Given the description of an element on the screen output the (x, y) to click on. 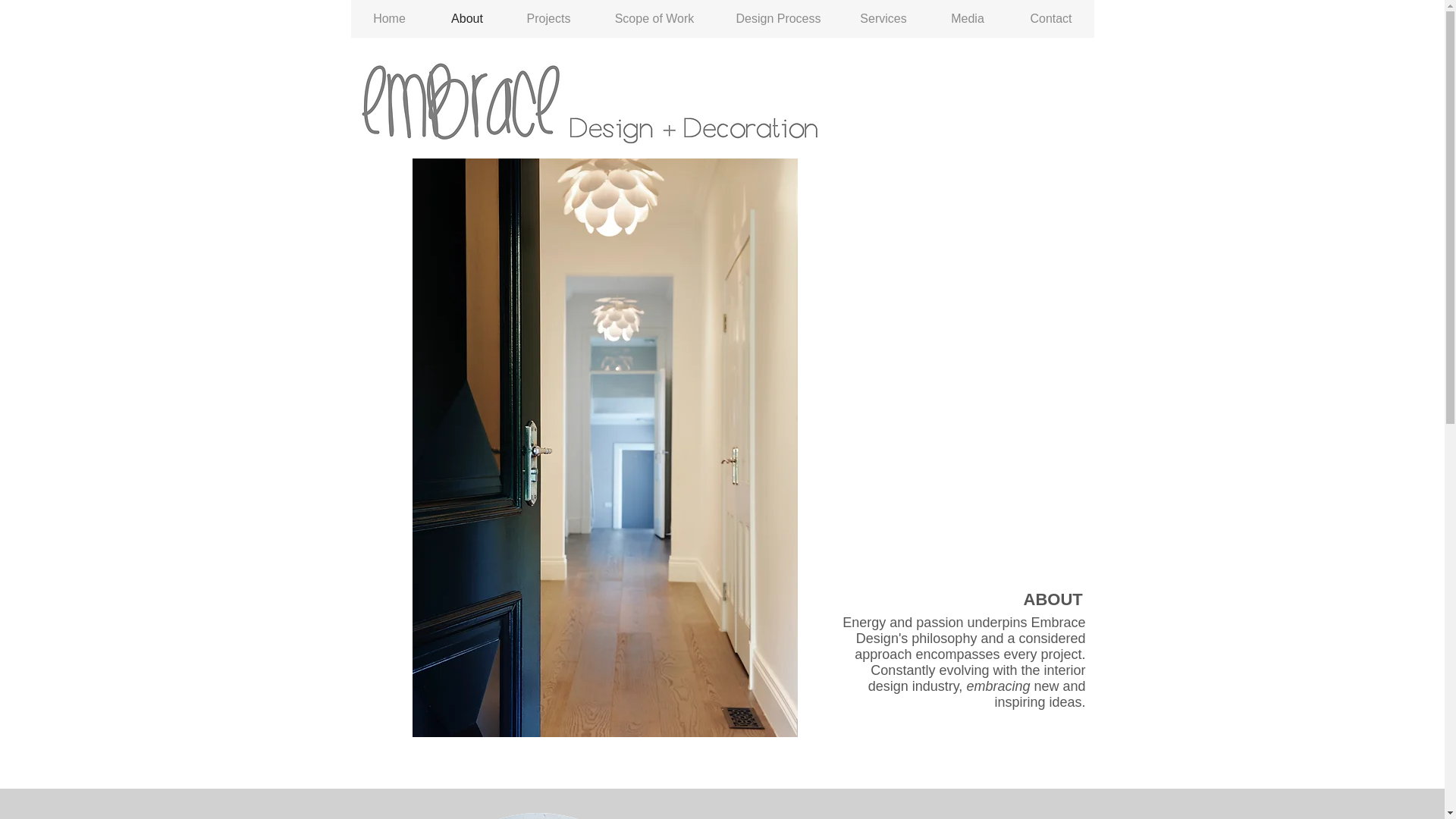
Design Process (778, 18)
Scope of Work (654, 18)
Projects (548, 18)
embrace logo.PNG (462, 99)
About (466, 18)
Media (966, 18)
Home (389, 18)
EmilyWatters-11345.jpg (537, 816)
Services (882, 18)
Contact (1050, 18)
